Given the description of an element on the screen output the (x, y) to click on. 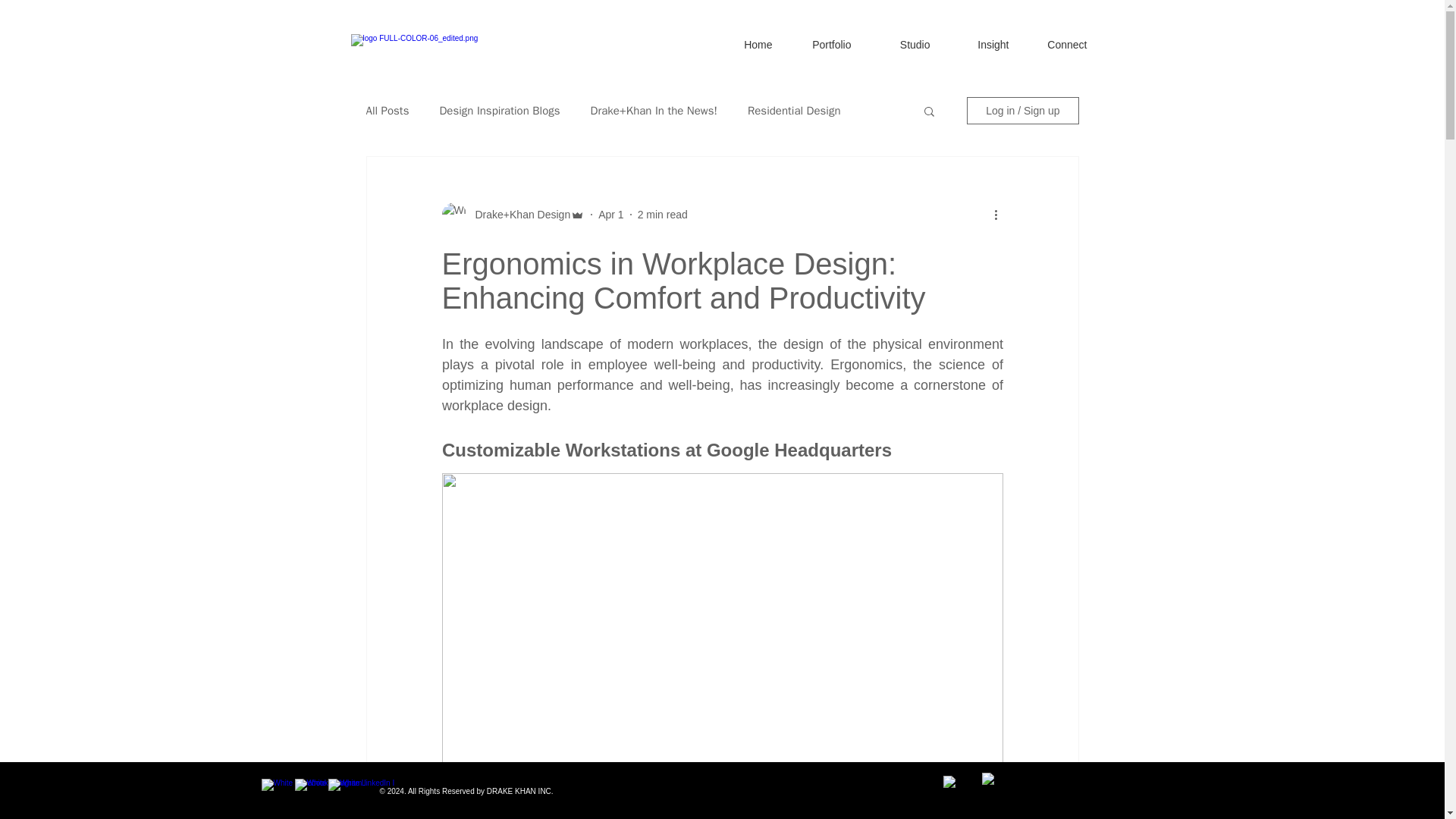
Apr 1 (610, 214)
Home (737, 38)
2 min read (662, 214)
Residential Design (794, 110)
Design Inspiration Blogs (499, 110)
All Posts (387, 110)
Connect (1053, 38)
Portfolio (817, 38)
